Given the description of an element on the screen output the (x, y) to click on. 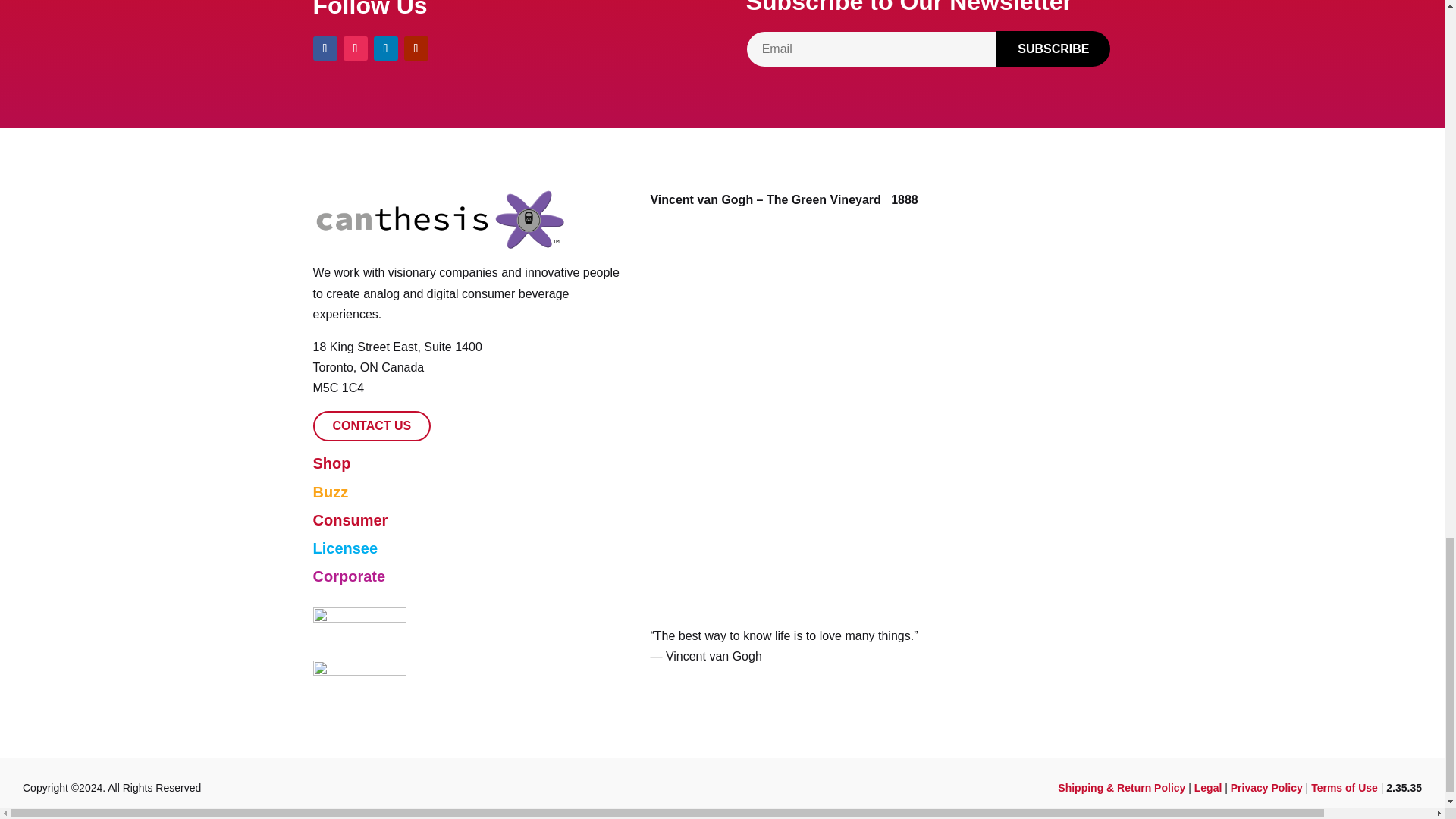
Button-Enjoy-Responsibly (359, 627)
Follow on Instagram (354, 48)
canthesis-dark (439, 219)
Follow on Facebook (324, 48)
Follow on LinkedIn (384, 48)
BBB-Logo (359, 678)
Follow on Youtube (415, 48)
SUBSCRIBE (1052, 48)
